Given the description of an element on the screen output the (x, y) to click on. 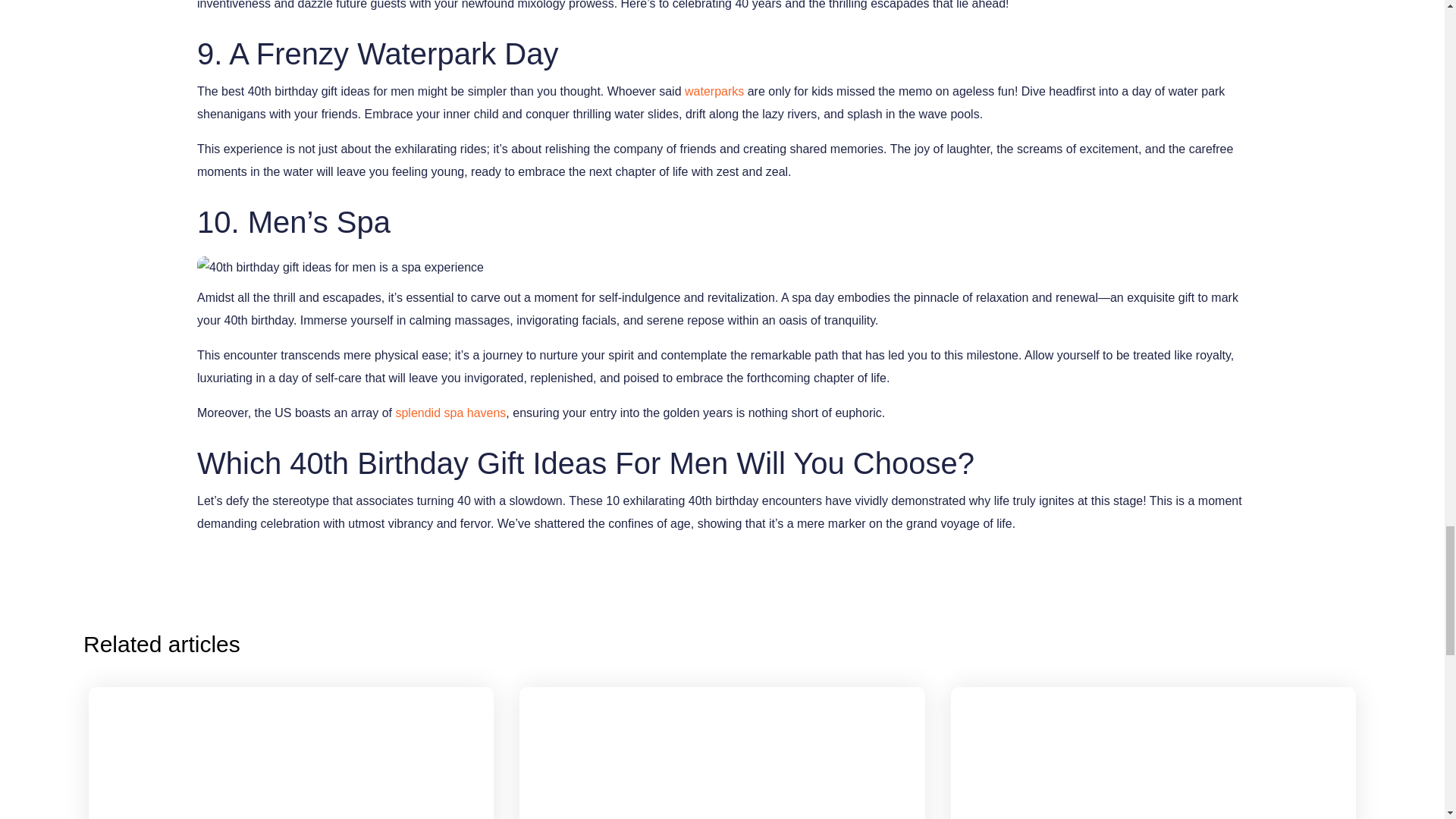
40Th Birthday Gift Ideas For Men To Rock His World 7 (339, 267)
